Given the description of an element on the screen output the (x, y) to click on. 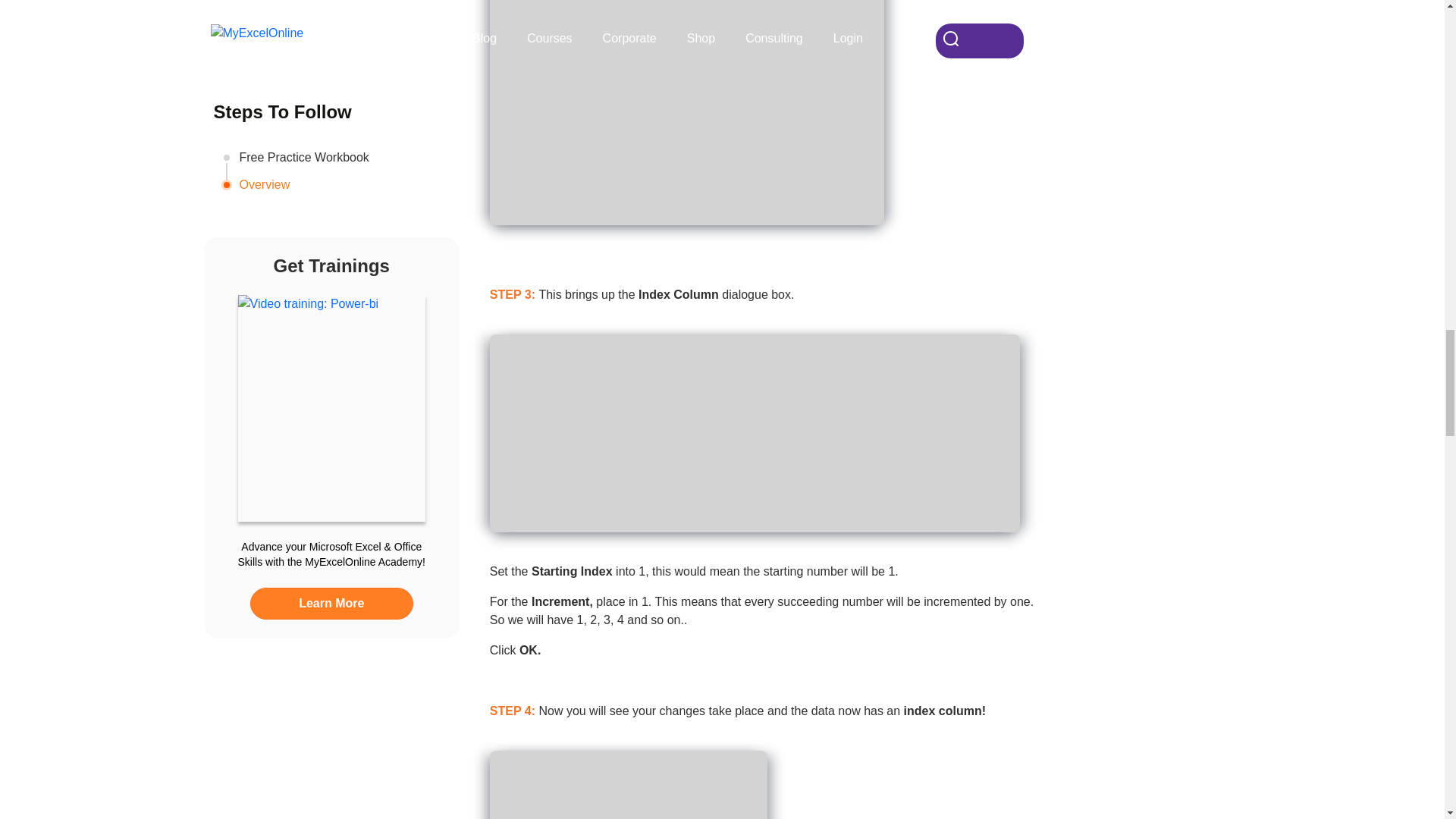
Create Index Columns Using Power Query (628, 785)
Create Index Columns Using Power Query (754, 433)
Create Index Columns Using Power Query (686, 112)
